Given the description of an element on the screen output the (x, y) to click on. 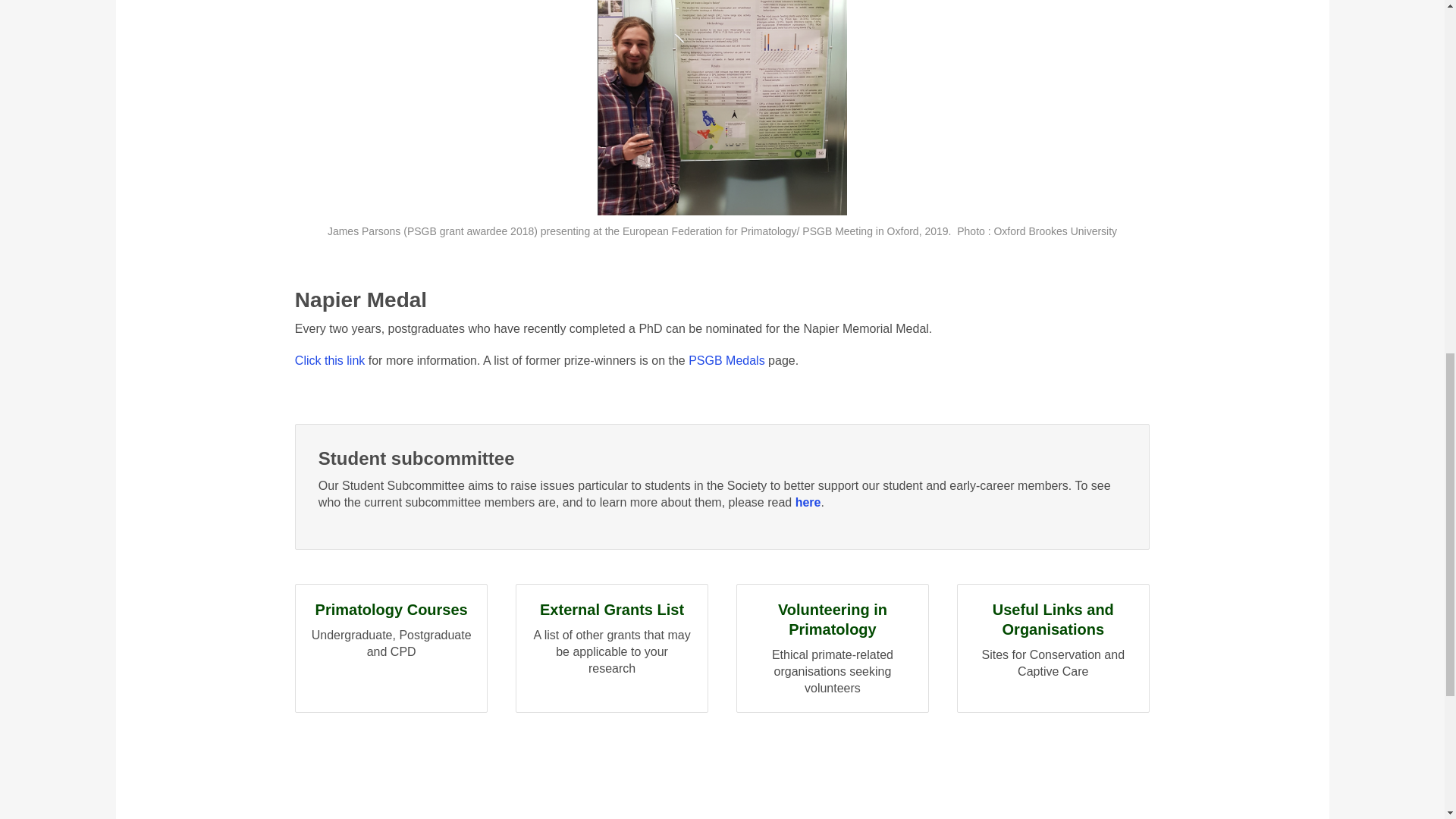
here (807, 502)
PSGB Medals (391, 647)
Click this link (726, 359)
